Given the description of an element on the screen output the (x, y) to click on. 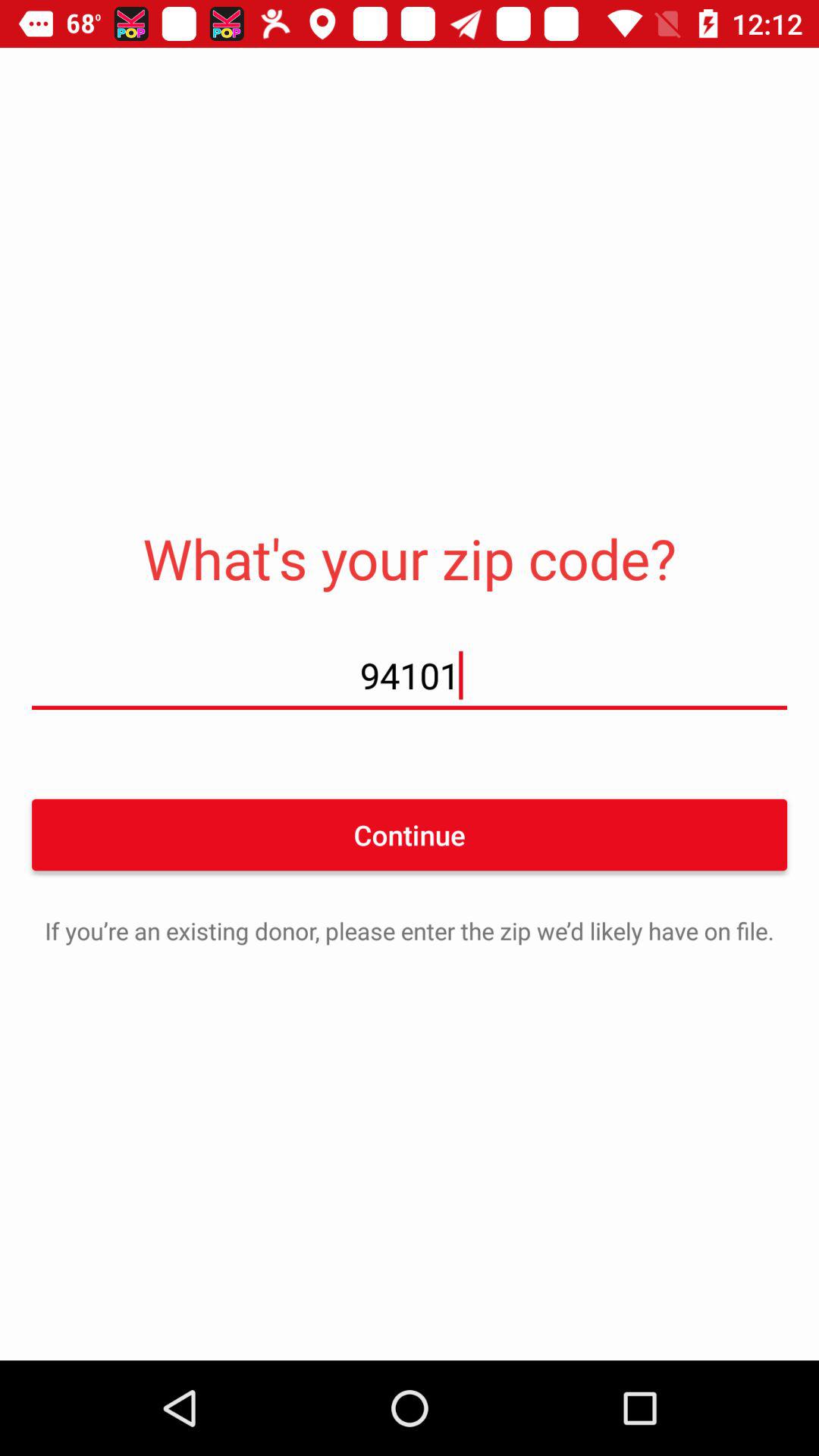
turn off the item below what s your icon (409, 675)
